Given the description of an element on the screen output the (x, y) to click on. 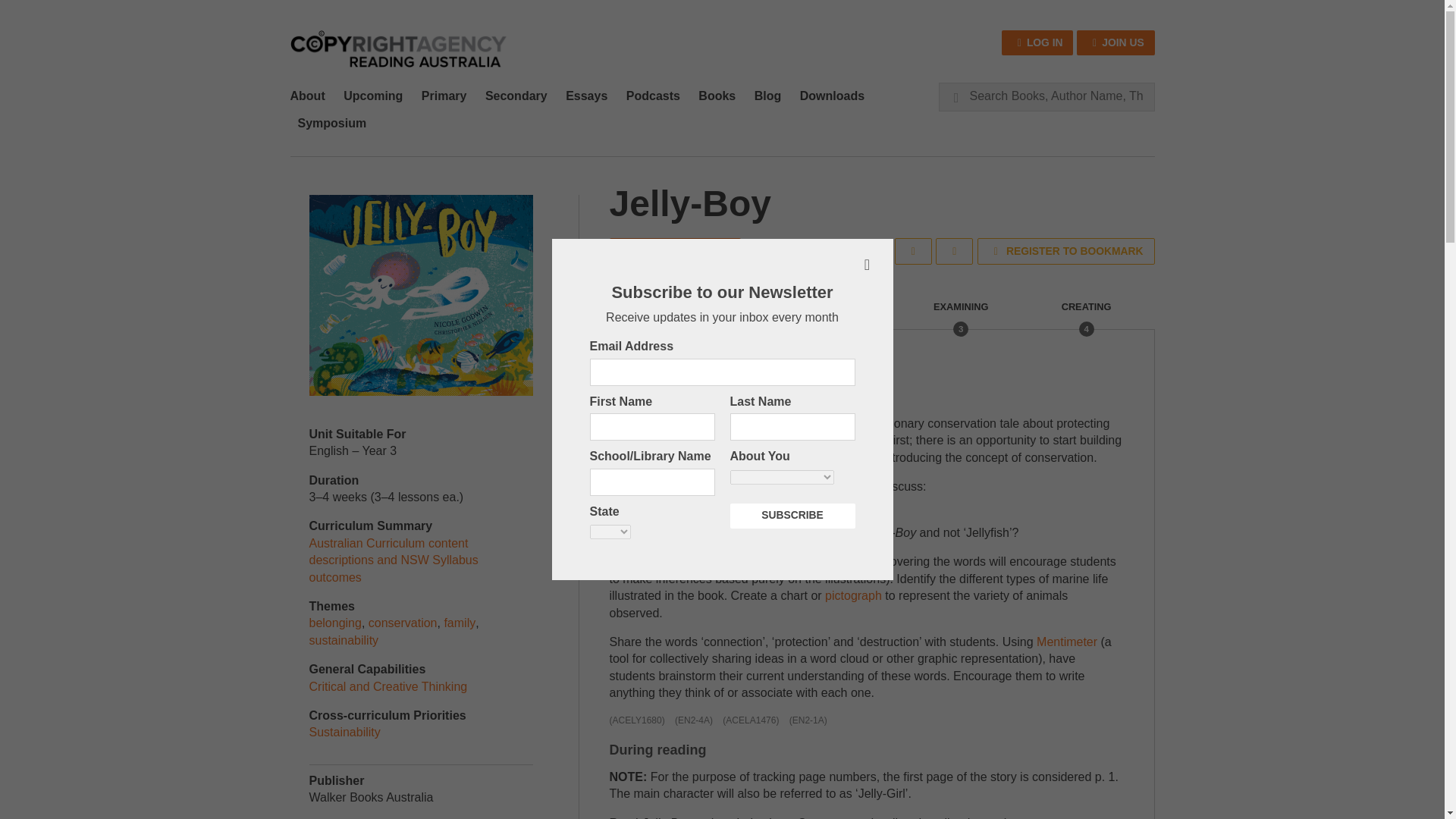
RESPONDING (835, 314)
REGISTER TO BOOKMARK (1065, 251)
JOIN US (1115, 42)
EXAMINING (960, 314)
CREATING (1085, 314)
Symposium (331, 123)
ABOUT THE BOOK (675, 250)
pictograph (853, 594)
LOG IN (1037, 42)
Downloads (832, 95)
Primary (443, 95)
Subscribe (791, 515)
Secondary (515, 95)
Search for: (1046, 95)
About (310, 95)
